Given the description of an element on the screen output the (x, y) to click on. 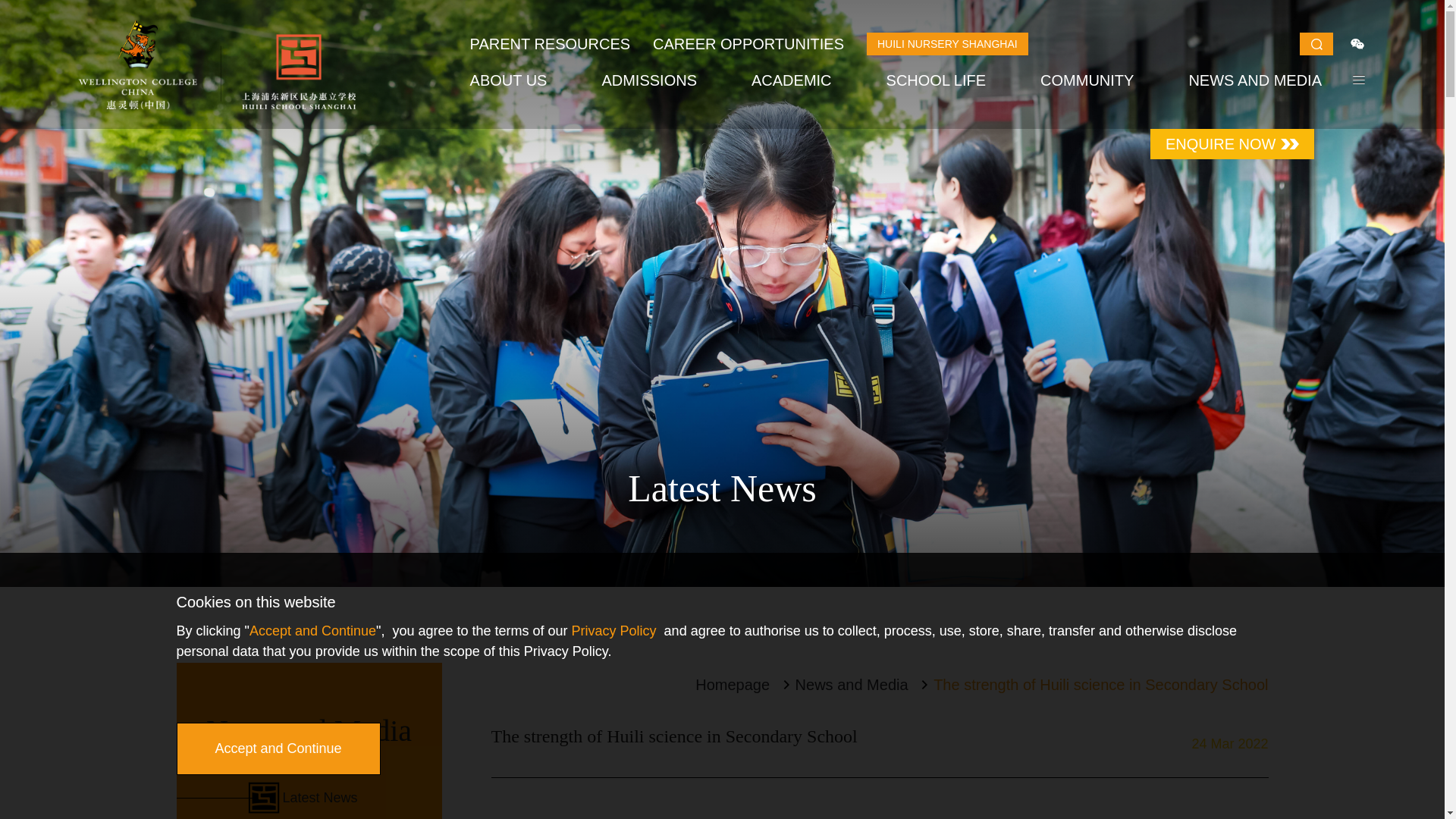
HUILI NURSERY SHANGHAI (946, 43)
ADMISSIONS (649, 80)
ABOUT US (508, 80)
CAREER OPPORTUNITIES (748, 43)
NEWS AND MEDIA (1255, 80)
COMMUNITY (1087, 80)
SCHOOL LIFE (936, 80)
ACADEMIC (791, 80)
PARENT RESOURCES (550, 43)
ENQUIRE NOW (1232, 143)
